Given the description of an element on the screen output the (x, y) to click on. 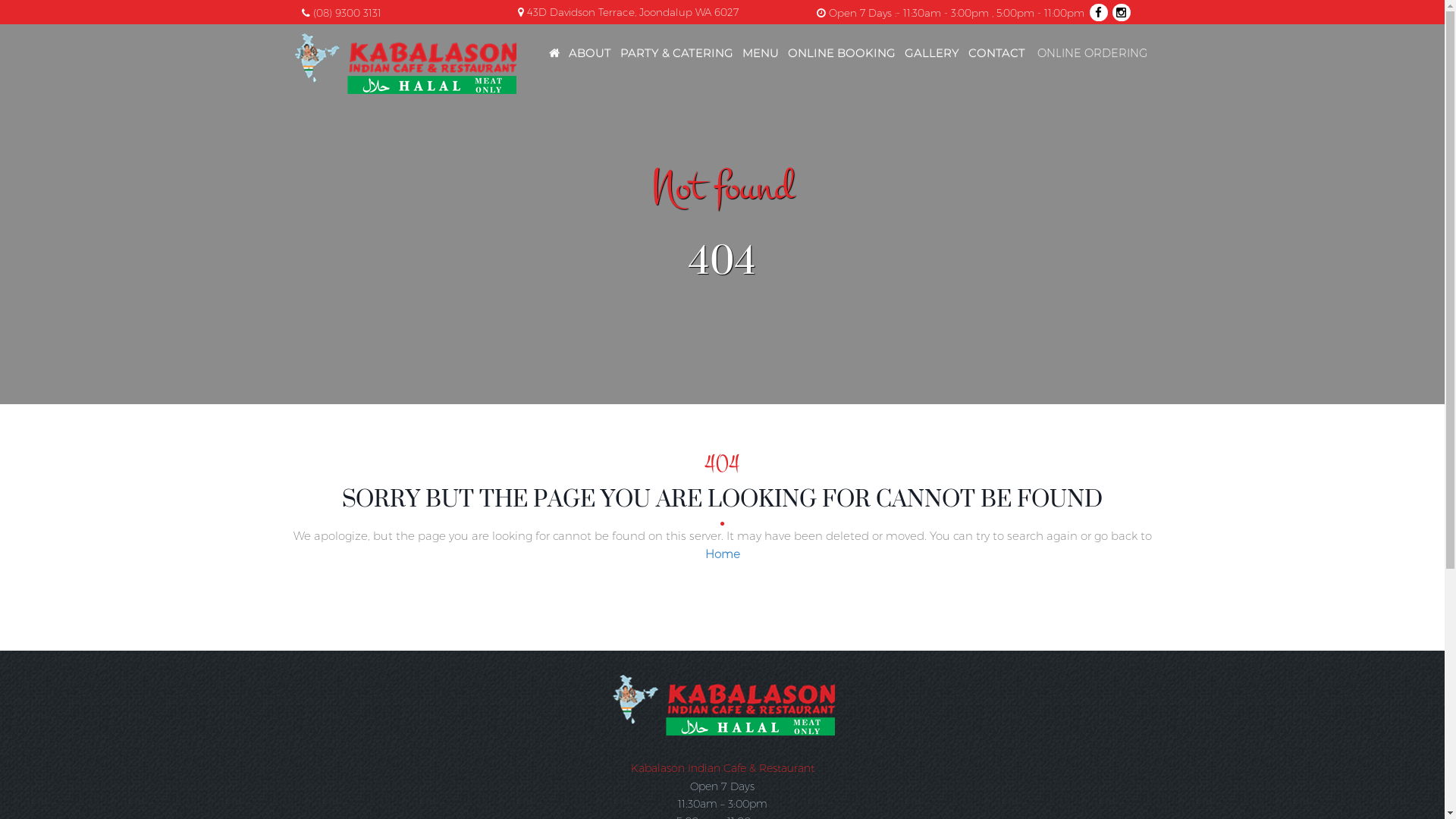
MENU Element type: text (759, 52)
Home Element type: text (722, 553)
(08) 9300 3131 Element type: text (344, 12)
ONLINE BOOKING Element type: text (840, 52)
ONLINE ORDERING Element type: text (1091, 58)
ABOUT Element type: text (589, 52)
GALLERY Element type: text (931, 52)
CONTACT Element type: text (996, 52)
PARTY & CATERING Element type: text (676, 52)
